Given the description of an element on the screen output the (x, y) to click on. 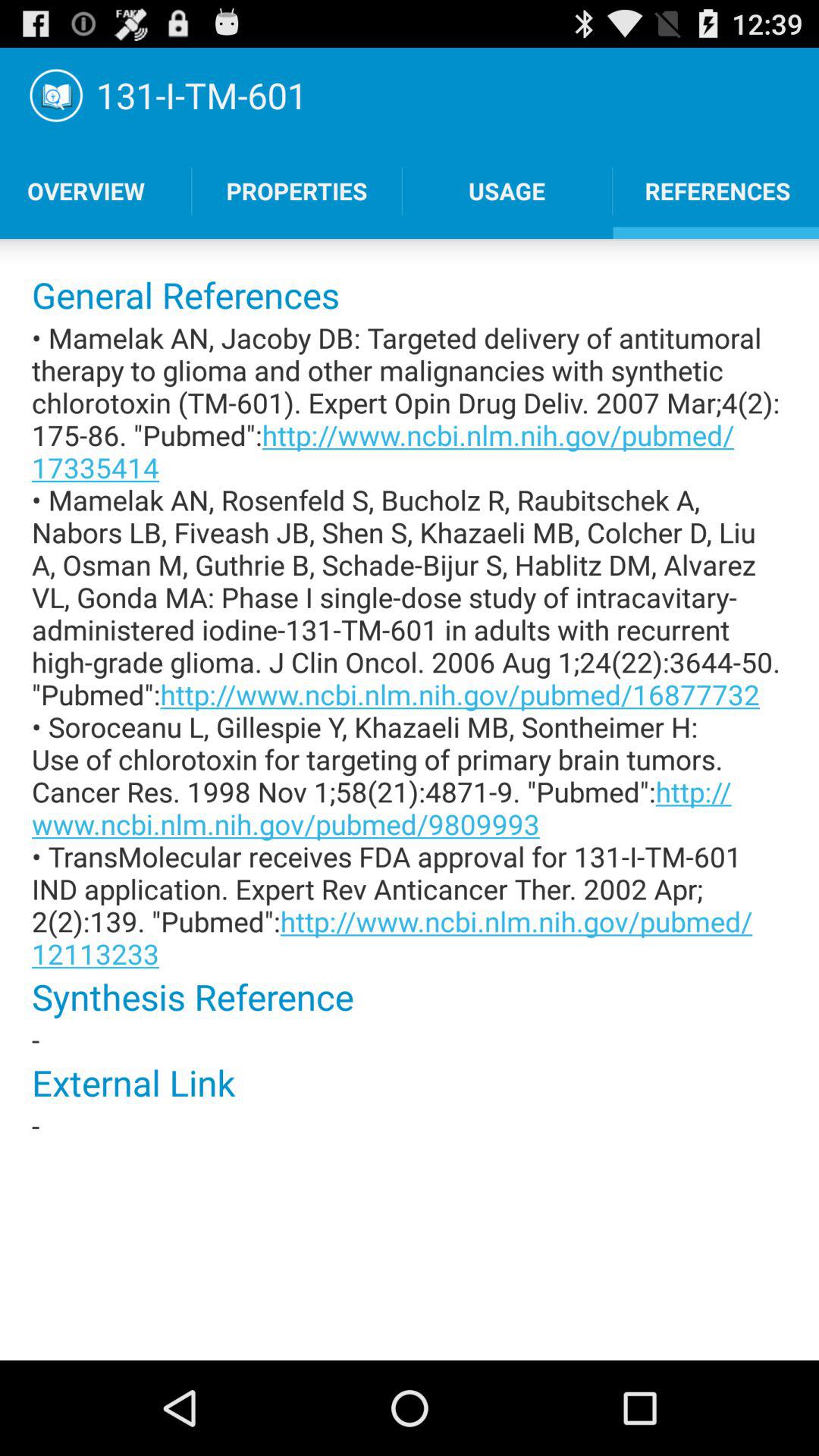
turn off app above the synthesis reference app (409, 645)
